Given the description of an element on the screen output the (x, y) to click on. 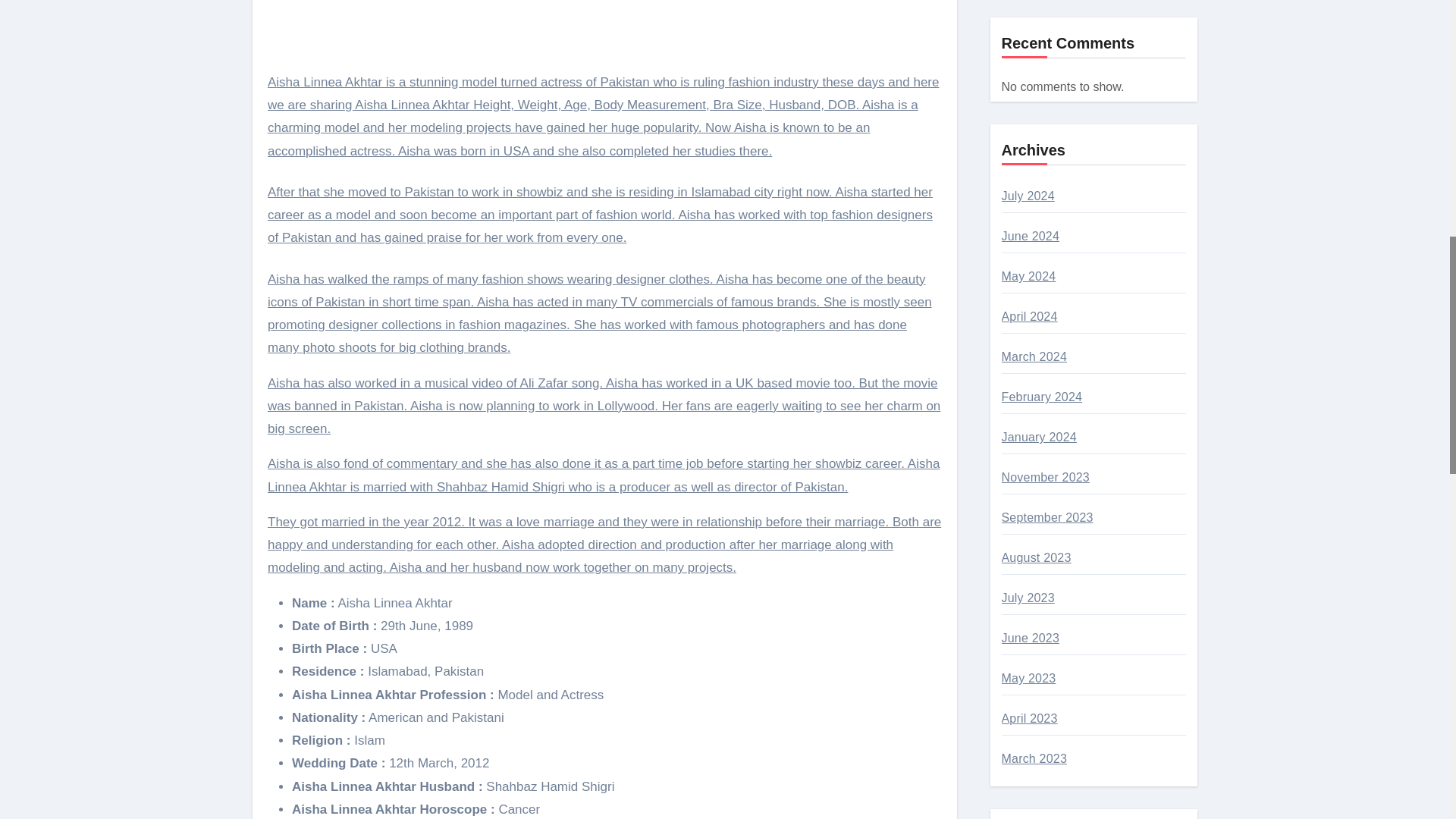
Advertisement (606, 29)
